Given the description of an element on the screen output the (x, y) to click on. 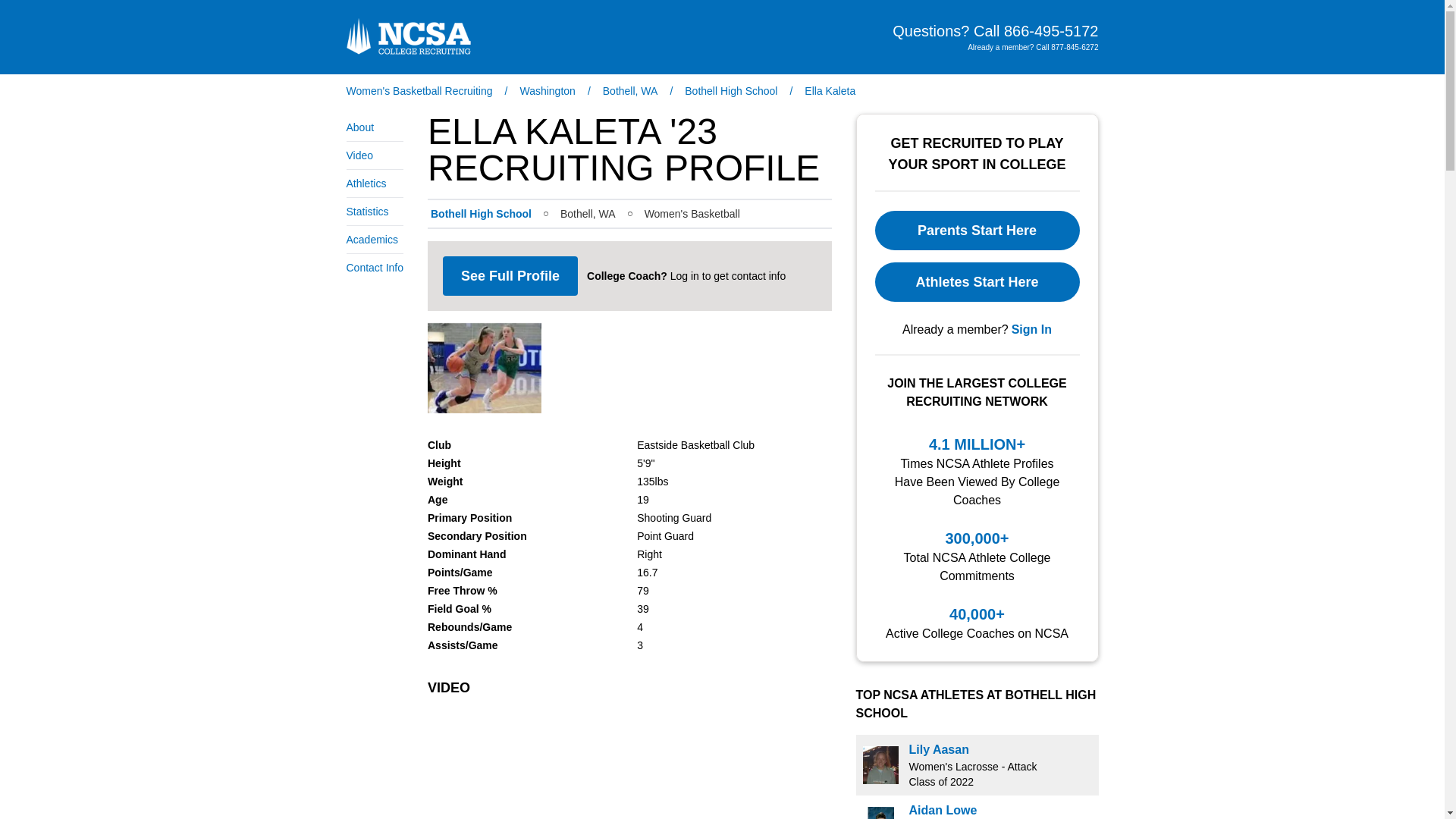
Athletes Start Here (977, 282)
Sign In (1031, 330)
Bothell High School (480, 213)
Women's Basketball Recruiting (419, 90)
See Full Profile (510, 275)
Aidan Lowe (942, 809)
Bothell High School (730, 90)
Questions? Call 866-495-5172 (994, 30)
Washington (547, 90)
Lily Aasan (938, 748)
